Given the description of an element on the screen output the (x, y) to click on. 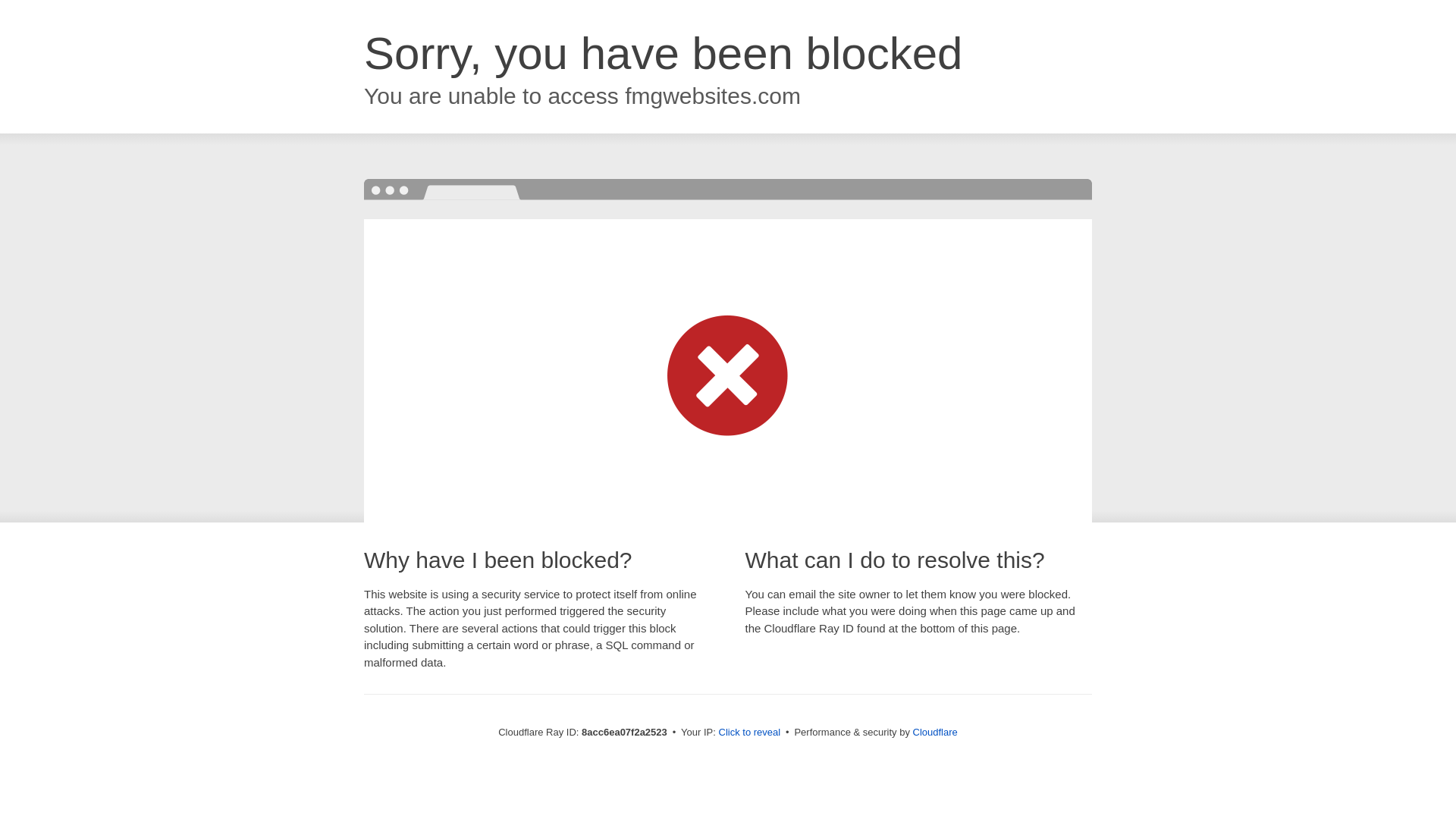
Click to reveal (749, 732)
Cloudflare (935, 731)
